Given the description of an element on the screen output the (x, y) to click on. 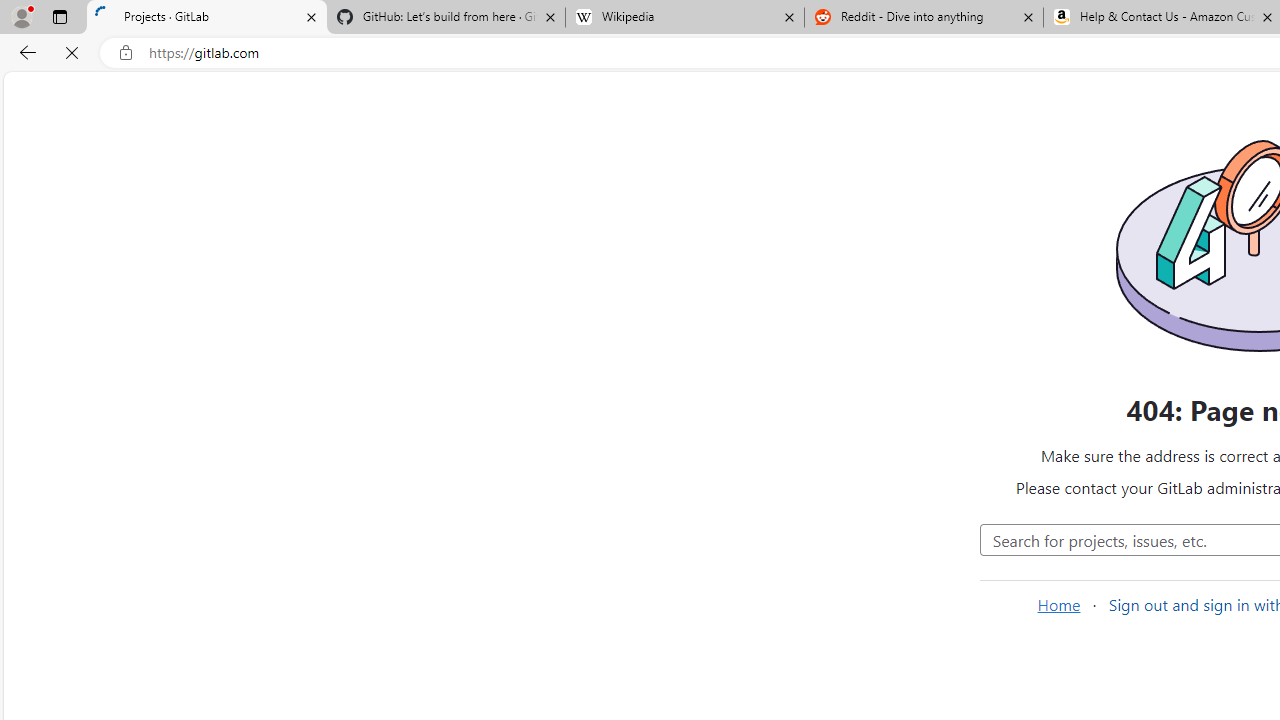
To-Do List (130, 394)
Operations (130, 599)
Merge requests (130, 358)
Skip to main content (23, 87)
Your work/ (323, 95)
1 (787, 519)
Merge requests 0 (131, 136)
